Given the description of an element on the screen output the (x, y) to click on. 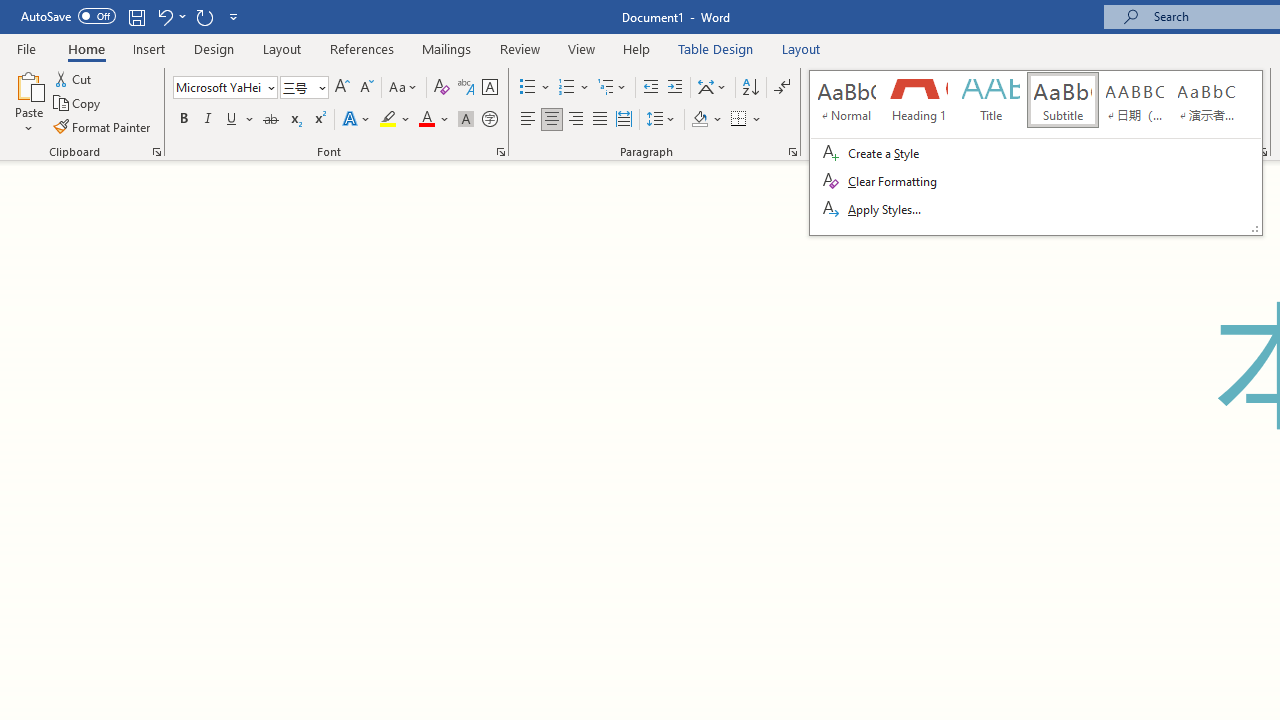
Class: Net UI Tool Window (1035, 152)
